Given the description of an element on the screen output the (x, y) to click on. 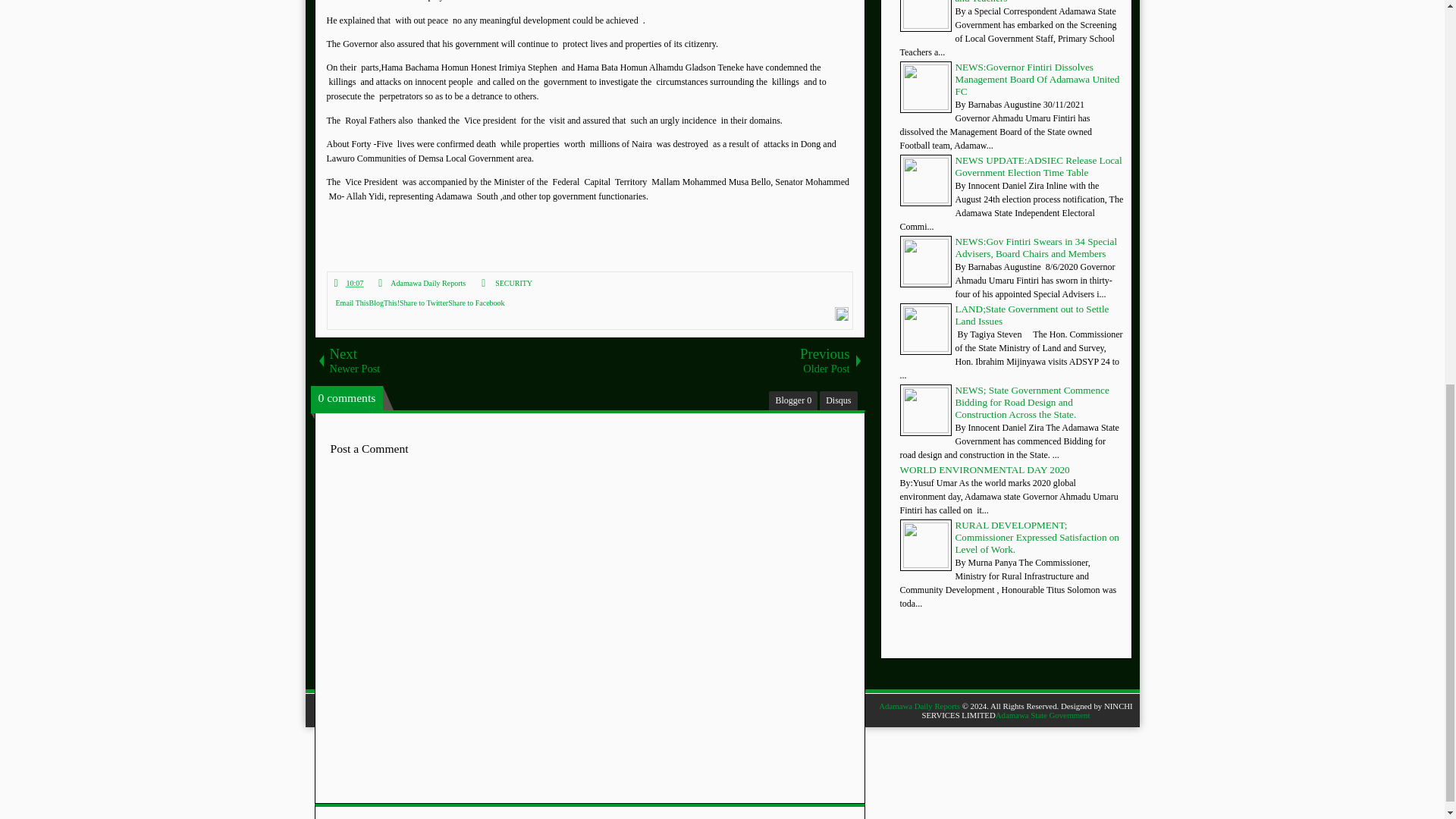
permanent link (349, 283)
Share to Twitter (423, 302)
2017-12-06T10:07:00-08:00 (354, 283)
Share to Facebook (475, 302)
BlogThis! (383, 302)
Email This (351, 302)
author profile (427, 283)
